Given the description of an element on the screen output the (x, y) to click on. 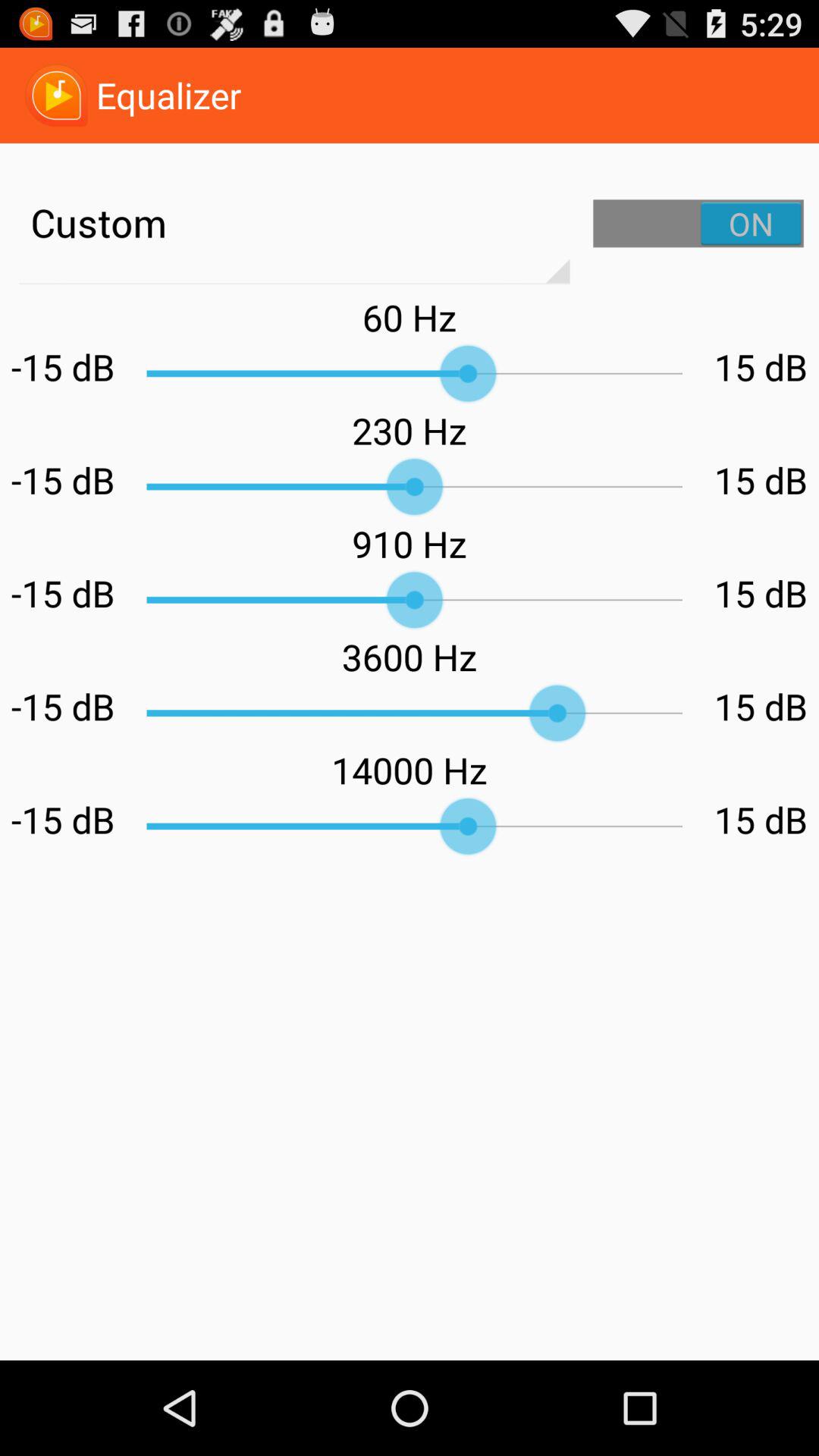
choose the icon next to custom icon (698, 223)
